Given the description of an element on the screen output the (x, y) to click on. 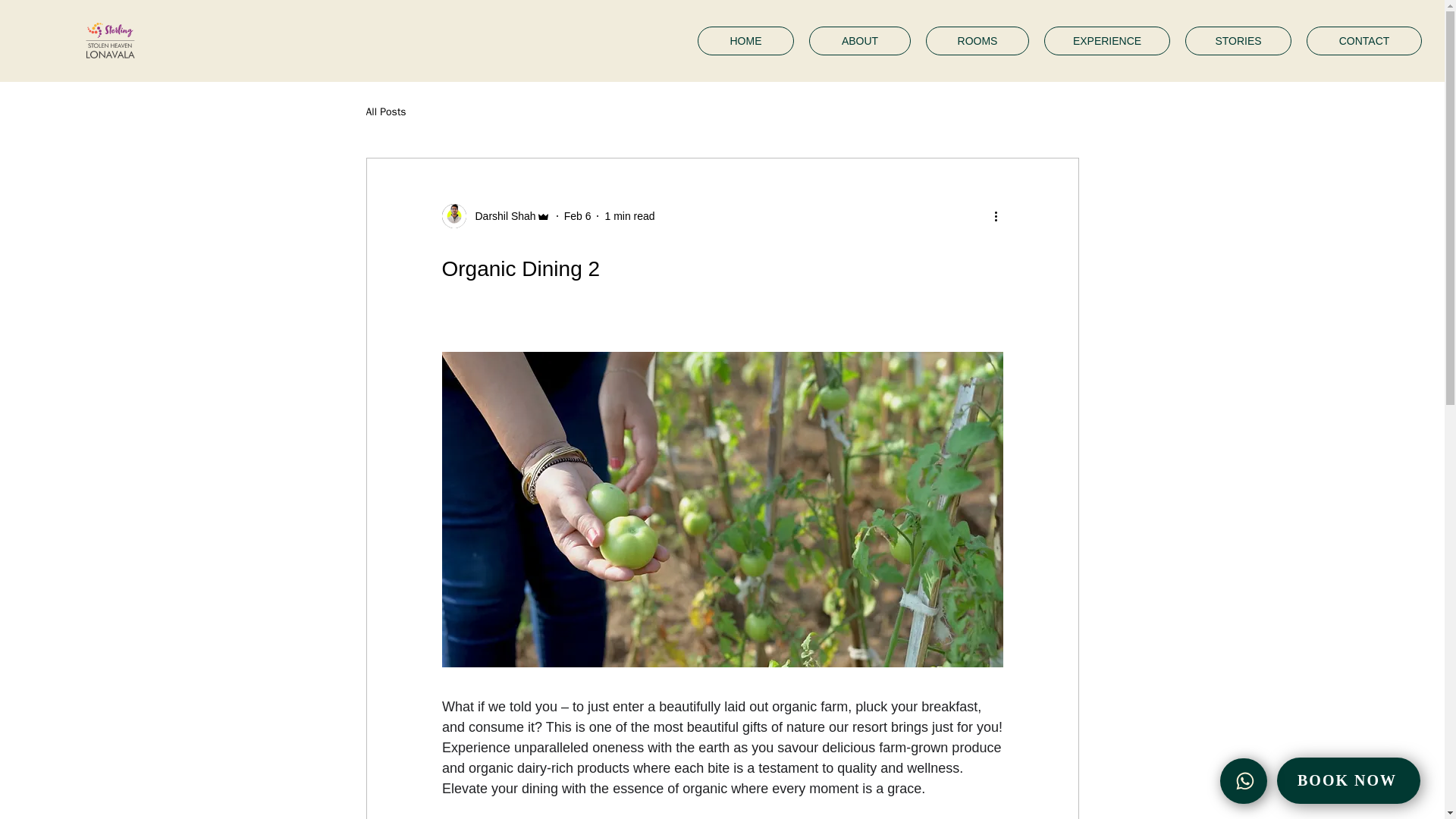
Feb 6 (577, 215)
1 min read (628, 215)
Darshil Shah (500, 215)
ABOUT (860, 40)
Home (109, 40)
ROOMS (977, 40)
STORIES (1238, 40)
CONTACT (1364, 40)
EXPERIENCE (1106, 40)
BOOK NOW (1348, 780)
All Posts (385, 111)
HOME (745, 40)
Darshil Shah (495, 215)
